Given the description of an element on the screen output the (x, y) to click on. 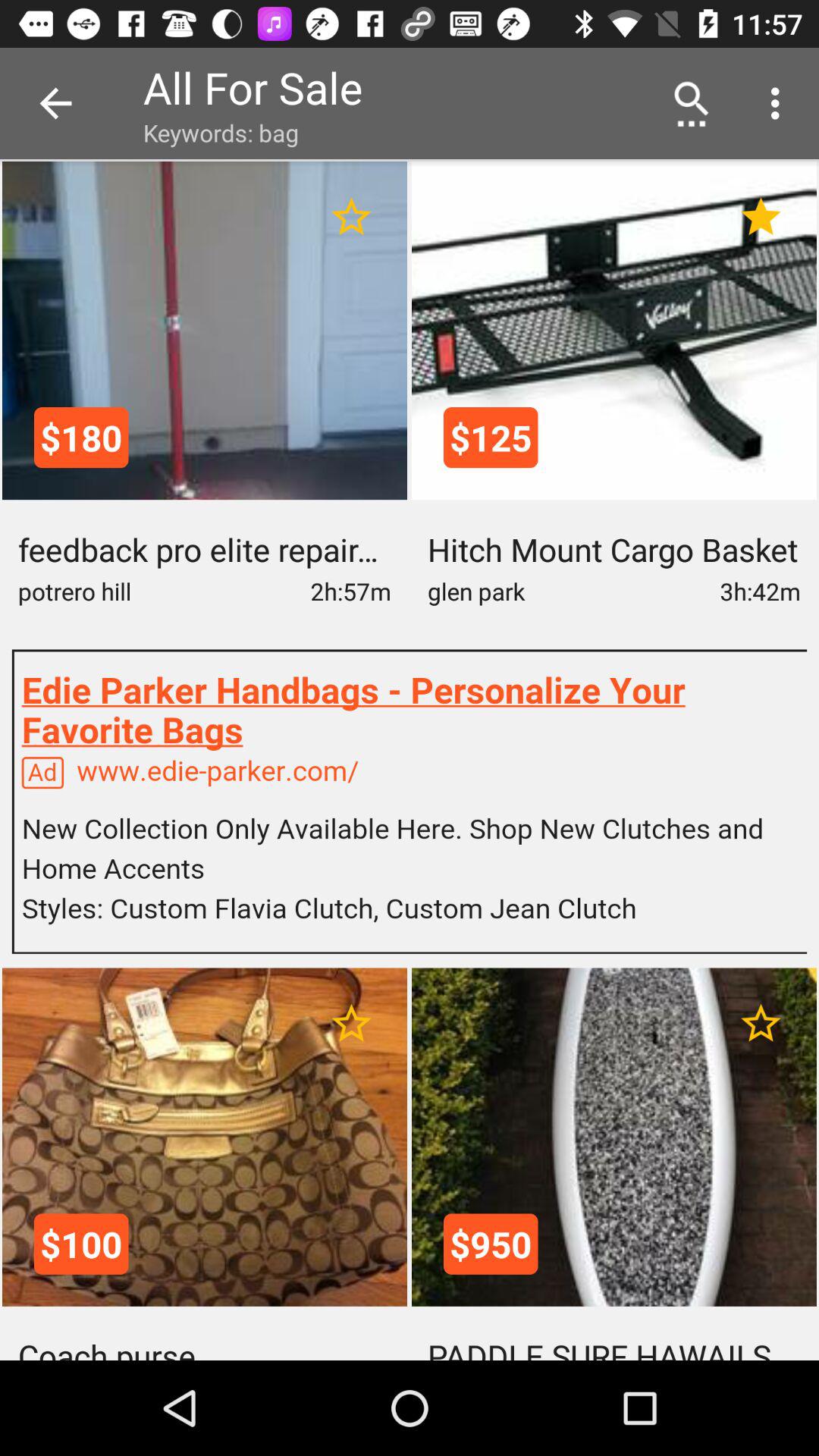
favorite (760, 1023)
